Given the description of an element on the screen output the (x, y) to click on. 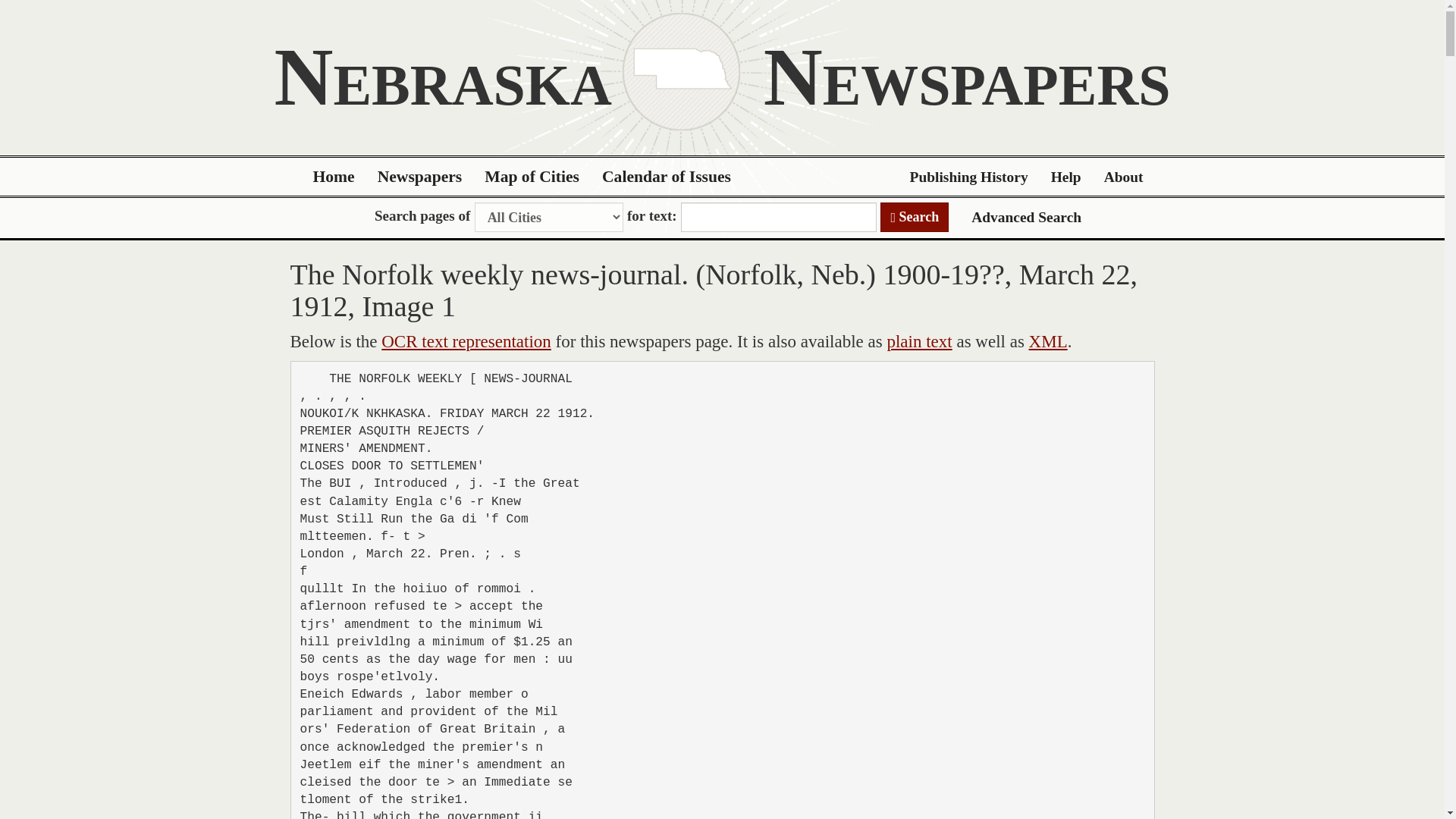
Advanced Search (1026, 216)
Map of Cities (532, 176)
plain text (919, 341)
Home (333, 176)
Help (1066, 176)
Newspapers (420, 176)
Publishing History (968, 176)
OCR text representation (466, 341)
About (1123, 176)
XML (1048, 341)
Search (914, 217)
Calendar of Issues (666, 176)
